Given the description of an element on the screen output the (x, y) to click on. 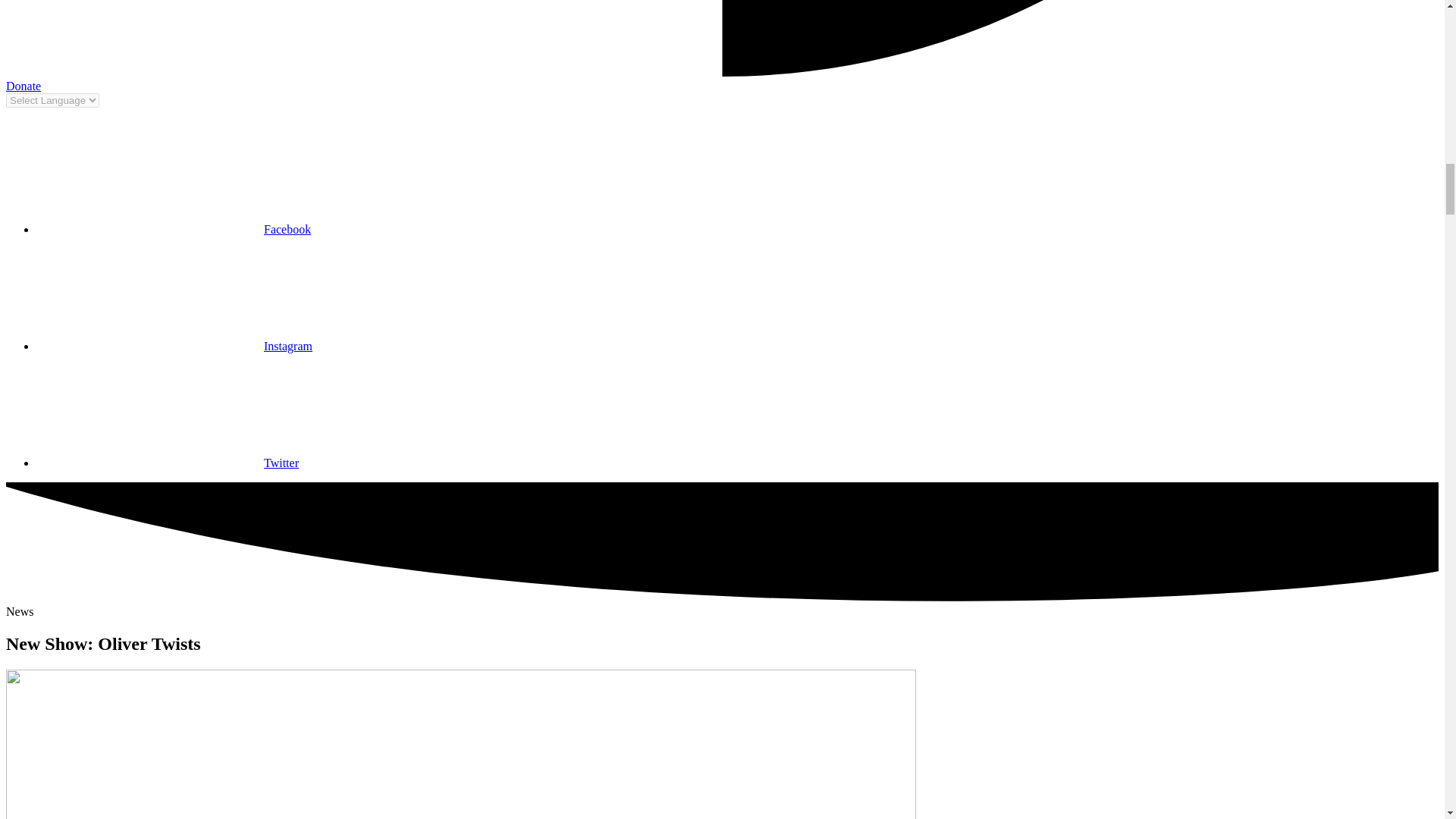
Facebook (173, 228)
Visit us on Instagram (174, 345)
Visit our Twitter account (167, 462)
Twitter (167, 462)
Visit our Facebook page (173, 228)
Instagram (174, 345)
